Given the description of an element on the screen output the (x, y) to click on. 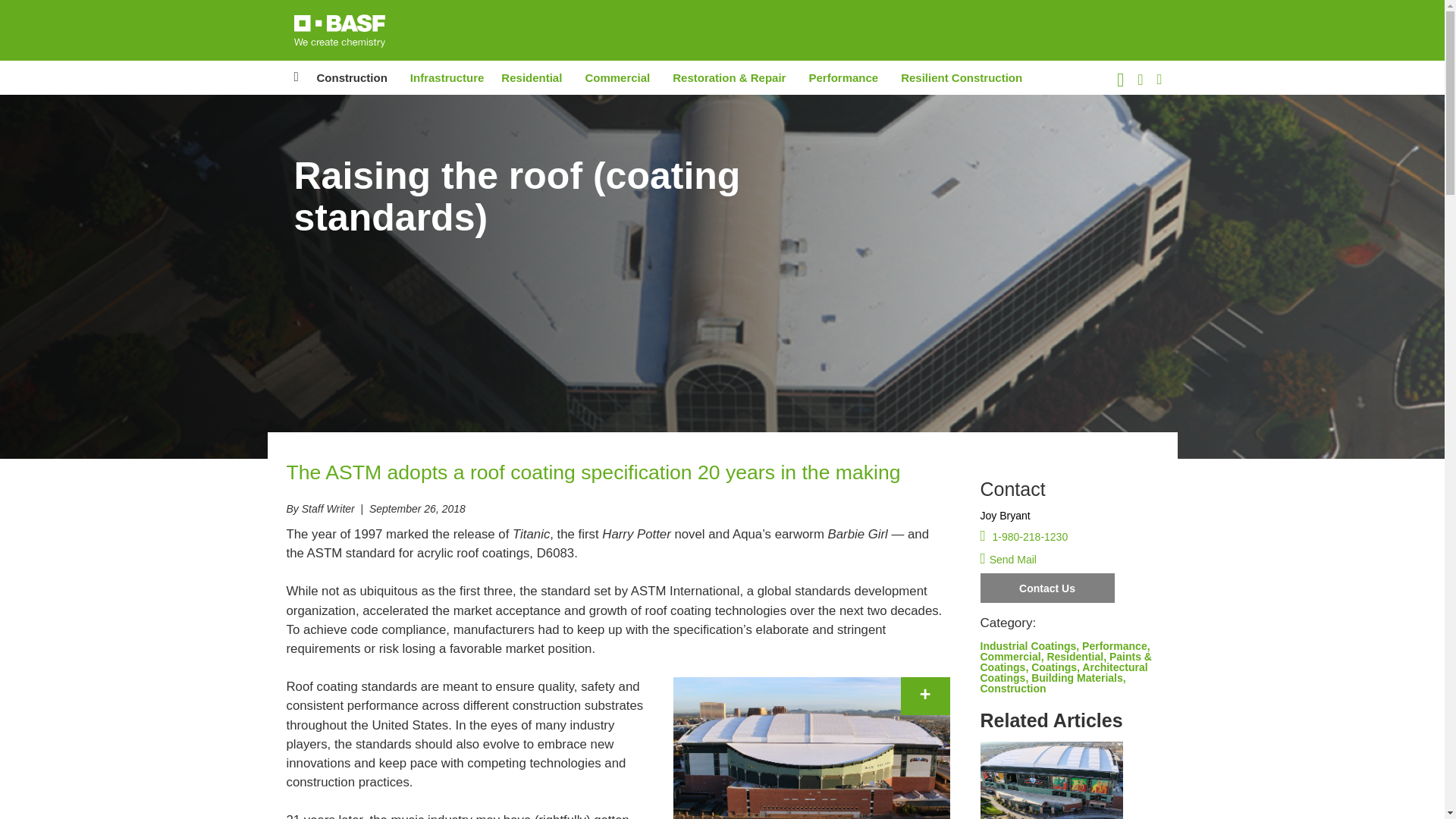
Infrastructure (447, 76)
Resilient Construction (961, 76)
Commercial (617, 76)
Performance (842, 76)
Construction (352, 76)
Residential (531, 76)
